Given the description of an element on the screen output the (x, y) to click on. 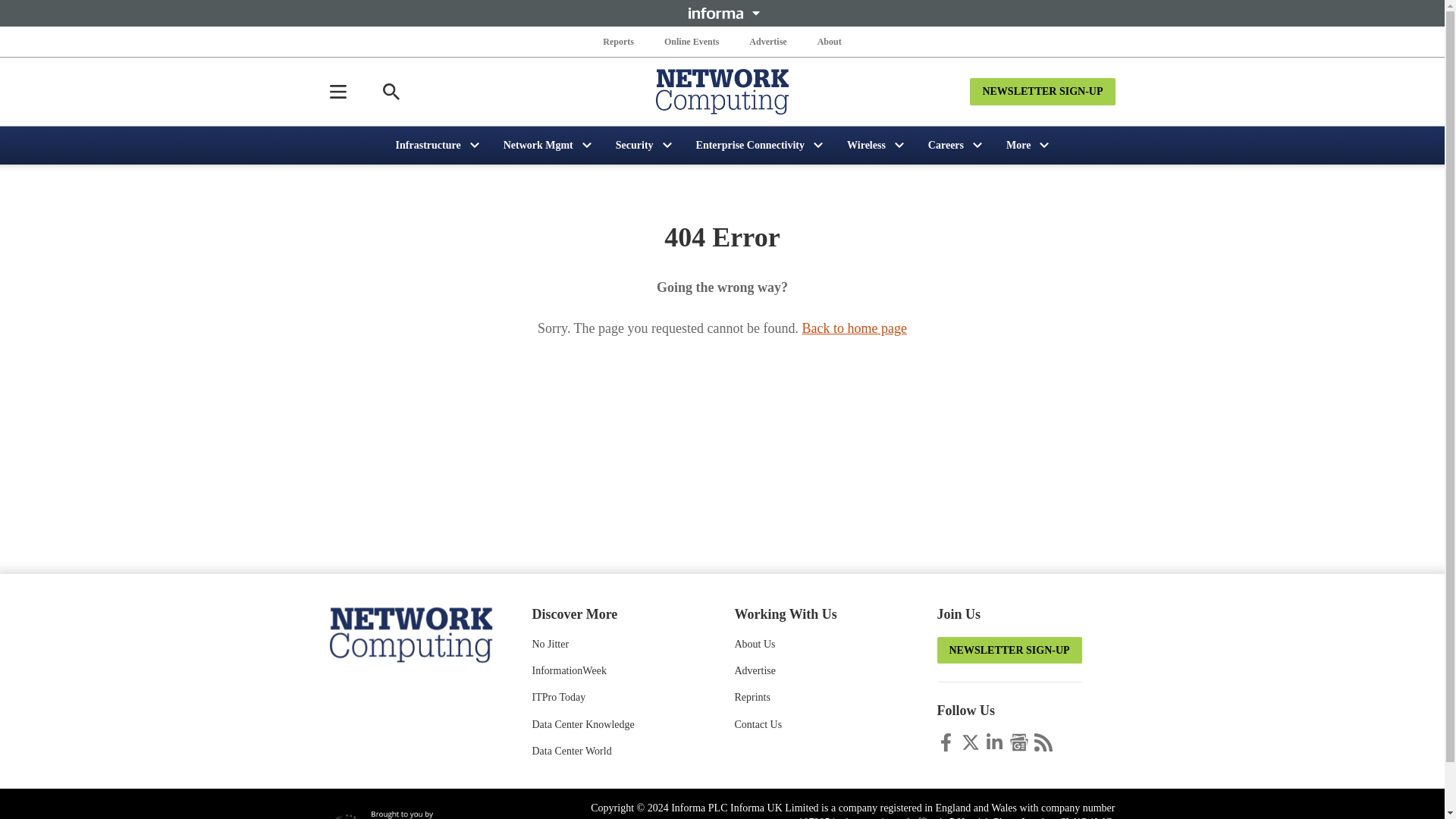
Reports (618, 41)
NEWSLETTER SIGN-UP (1042, 90)
Online Events (691, 41)
Network Computing (410, 633)
About (828, 41)
Network Computing Logo (722, 91)
Advertise (767, 41)
Informa Tech (404, 814)
